Given the description of an element on the screen output the (x, y) to click on. 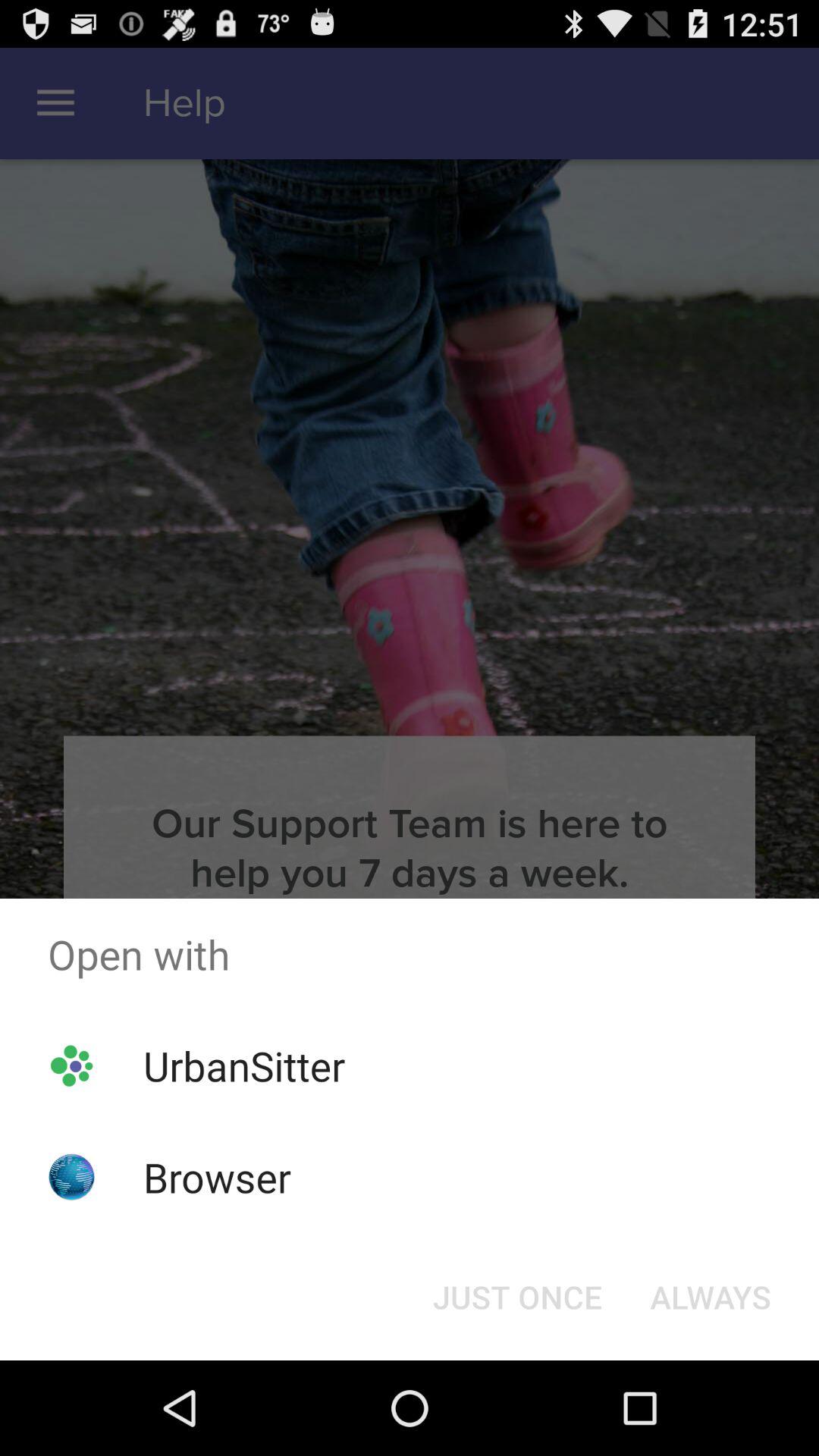
choose the button at the bottom (517, 1296)
